Given the description of an element on the screen output the (x, y) to click on. 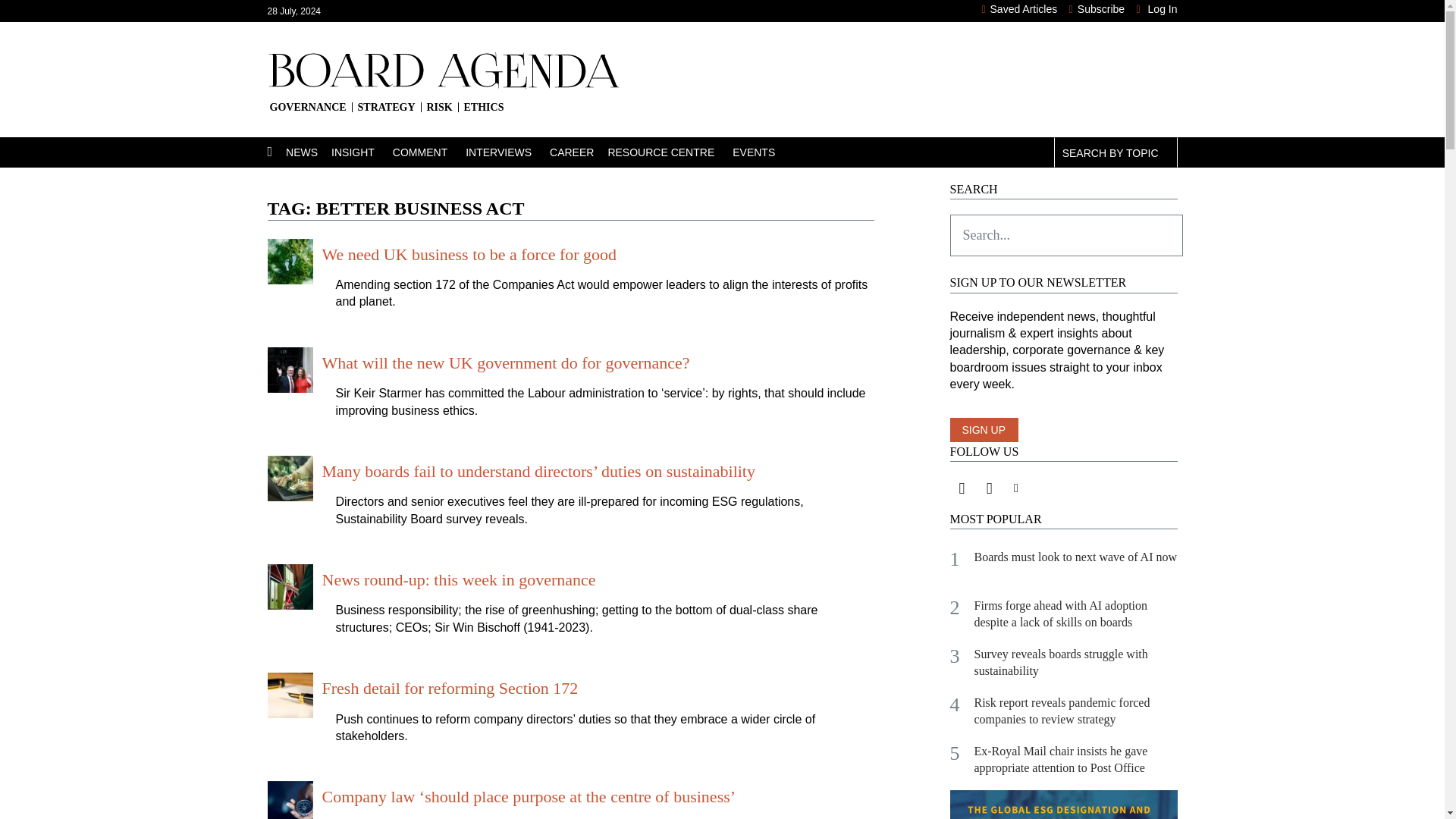
Saved Articles (1019, 9)
News round-up: this week in governance (458, 579)
Fresh detail for reforming Section 172 (449, 687)
Log In (1157, 9)
NEWS (308, 152)
INSIGHT (362, 152)
Subscribe (1096, 9)
We need UK business to be a force for good (468, 253)
COMMENT (429, 152)
INTERVIEWS (507, 152)
What will the new UK government do for governance? (504, 362)
